Given the description of an element on the screen output the (x, y) to click on. 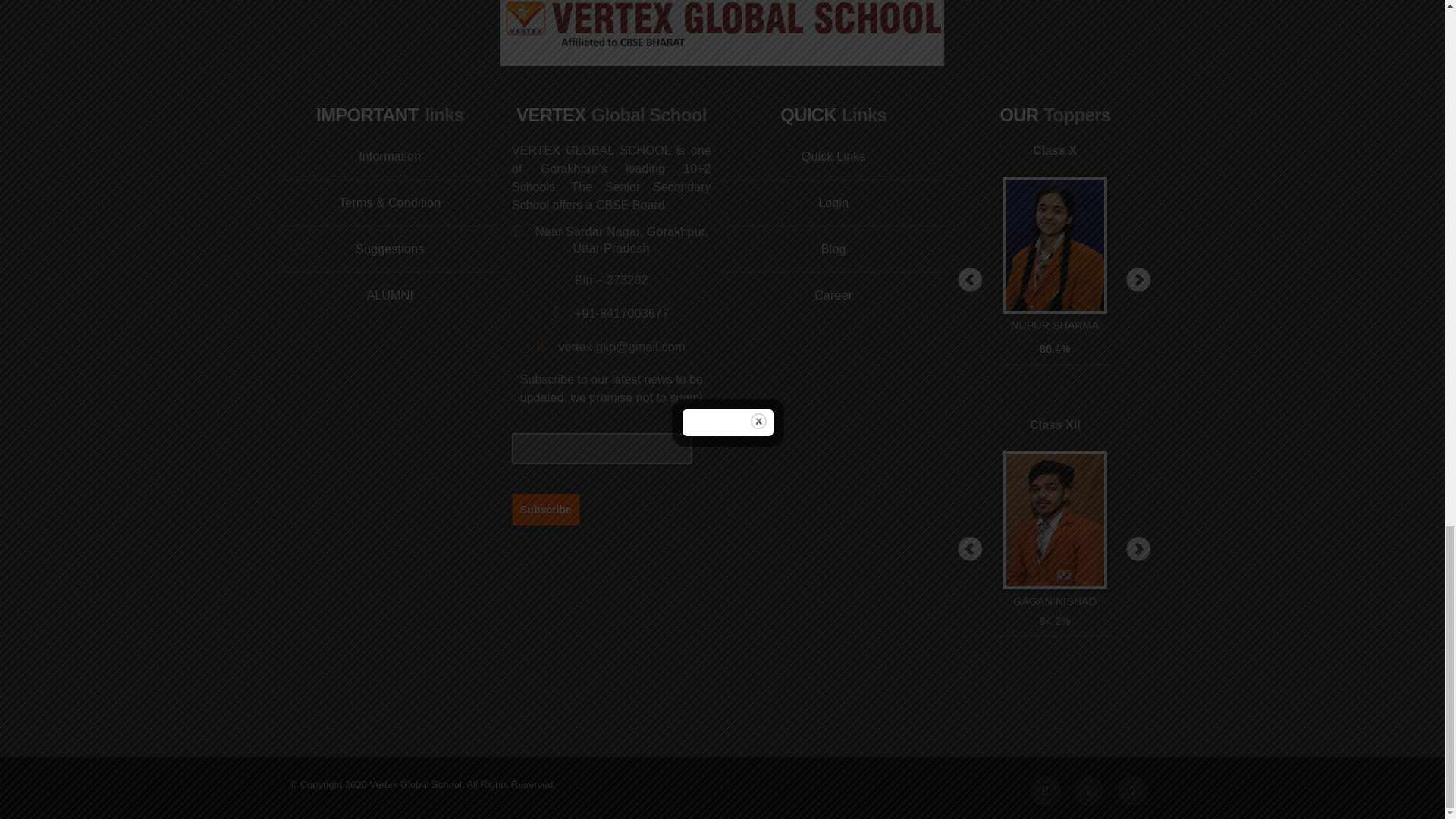
Subscribe (545, 508)
